Given the description of an element on the screen output the (x, y) to click on. 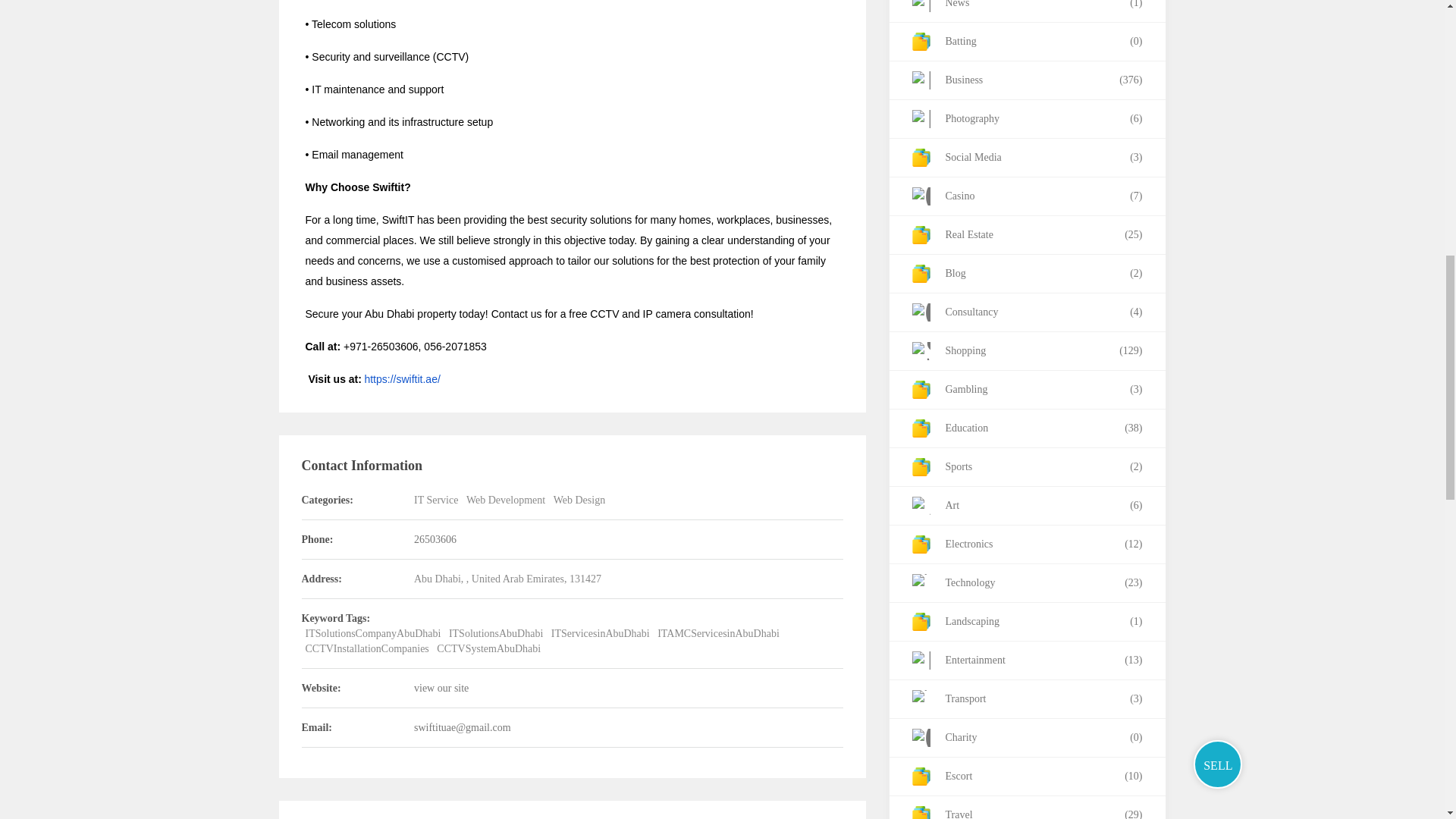
IT Service (435, 500)
CCTVSystemAbuDhabi (488, 648)
ITSolutionsAbuDhabi (495, 633)
Web Design (579, 500)
ITServicesinAbuDhabi (600, 633)
CCTVInstallationCompanies (366, 648)
view our site (440, 687)
ITAMCServicesinAbuDhabi (718, 633)
ITSolutionsCompanyAbuDhabi (372, 633)
26503606 (435, 539)
Web Development (504, 500)
